Given the description of an element on the screen output the (x, y) to click on. 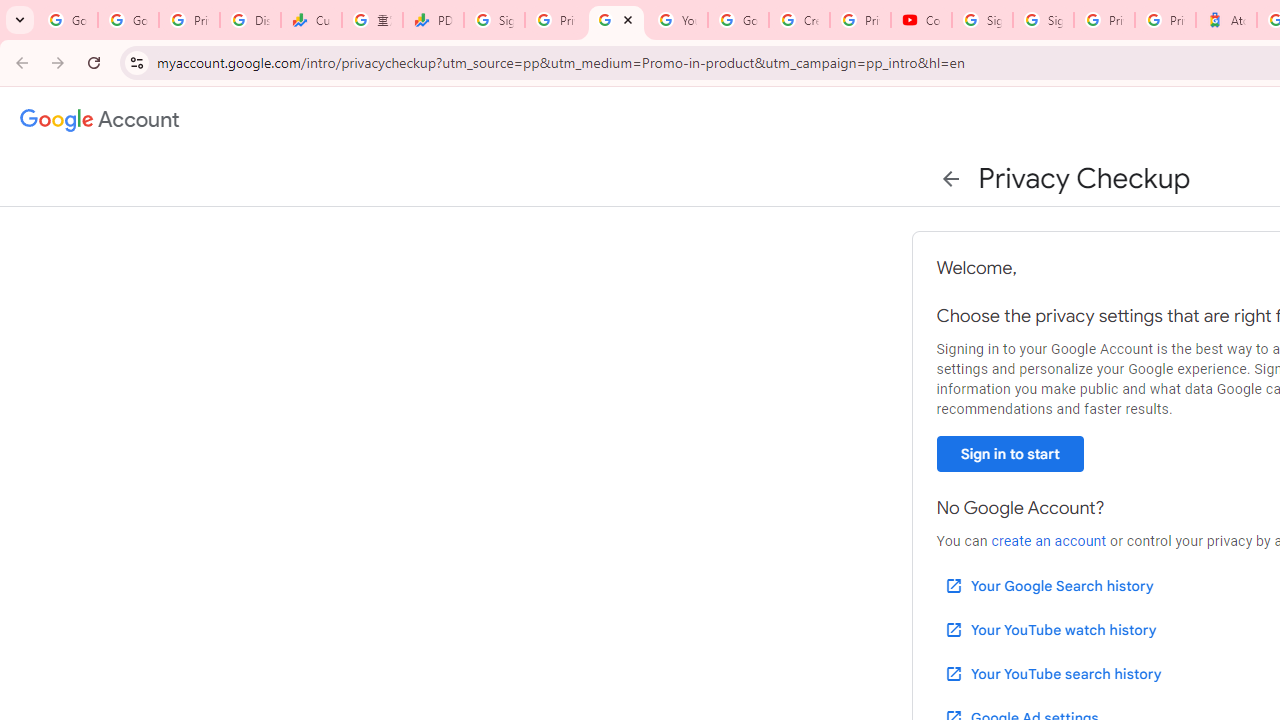
Atour Hotel - Google hotels (1225, 20)
